Given the description of an element on the screen output the (x, y) to click on. 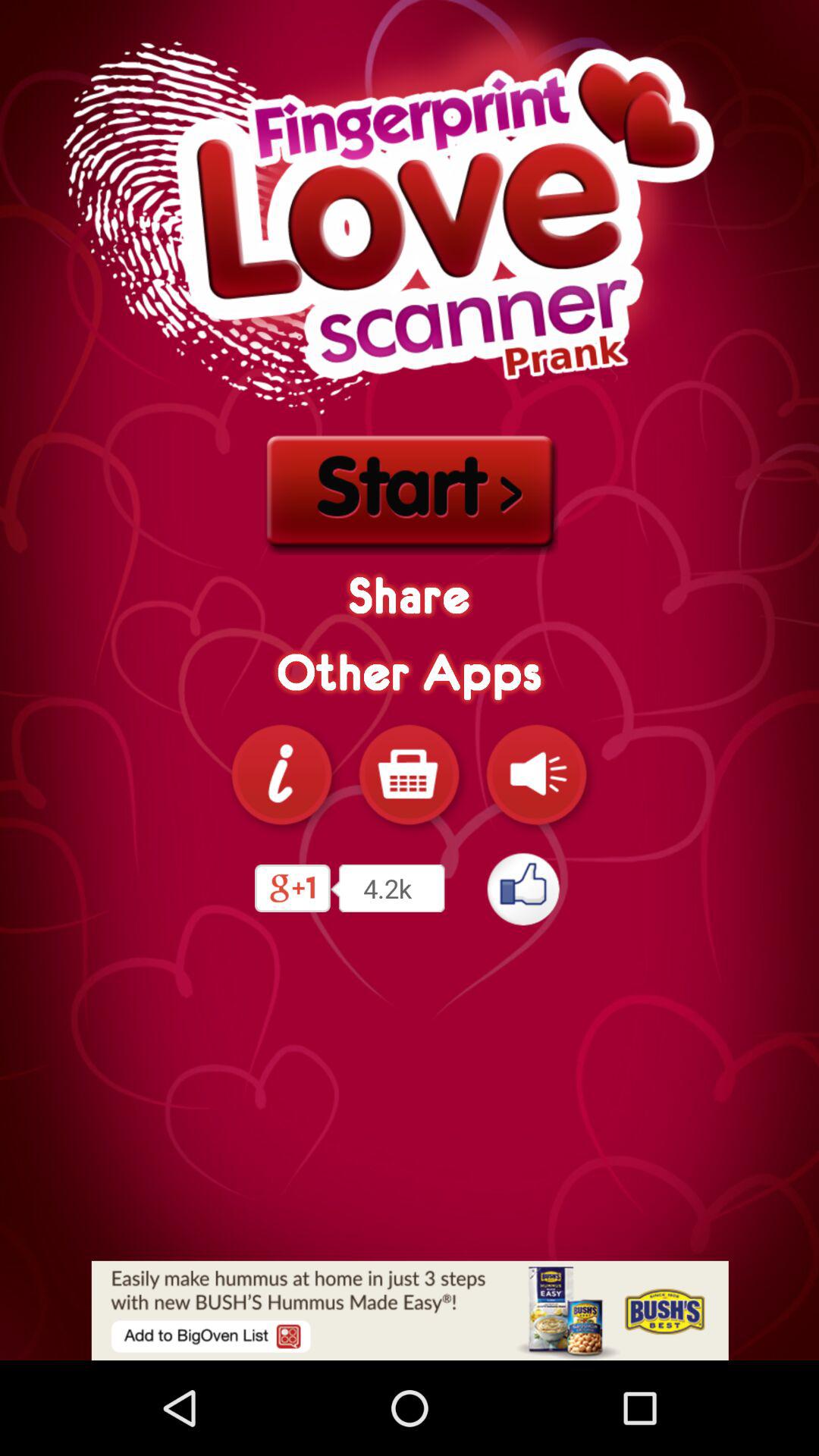
share the apps (409, 774)
